Given the description of an element on the screen output the (x, y) to click on. 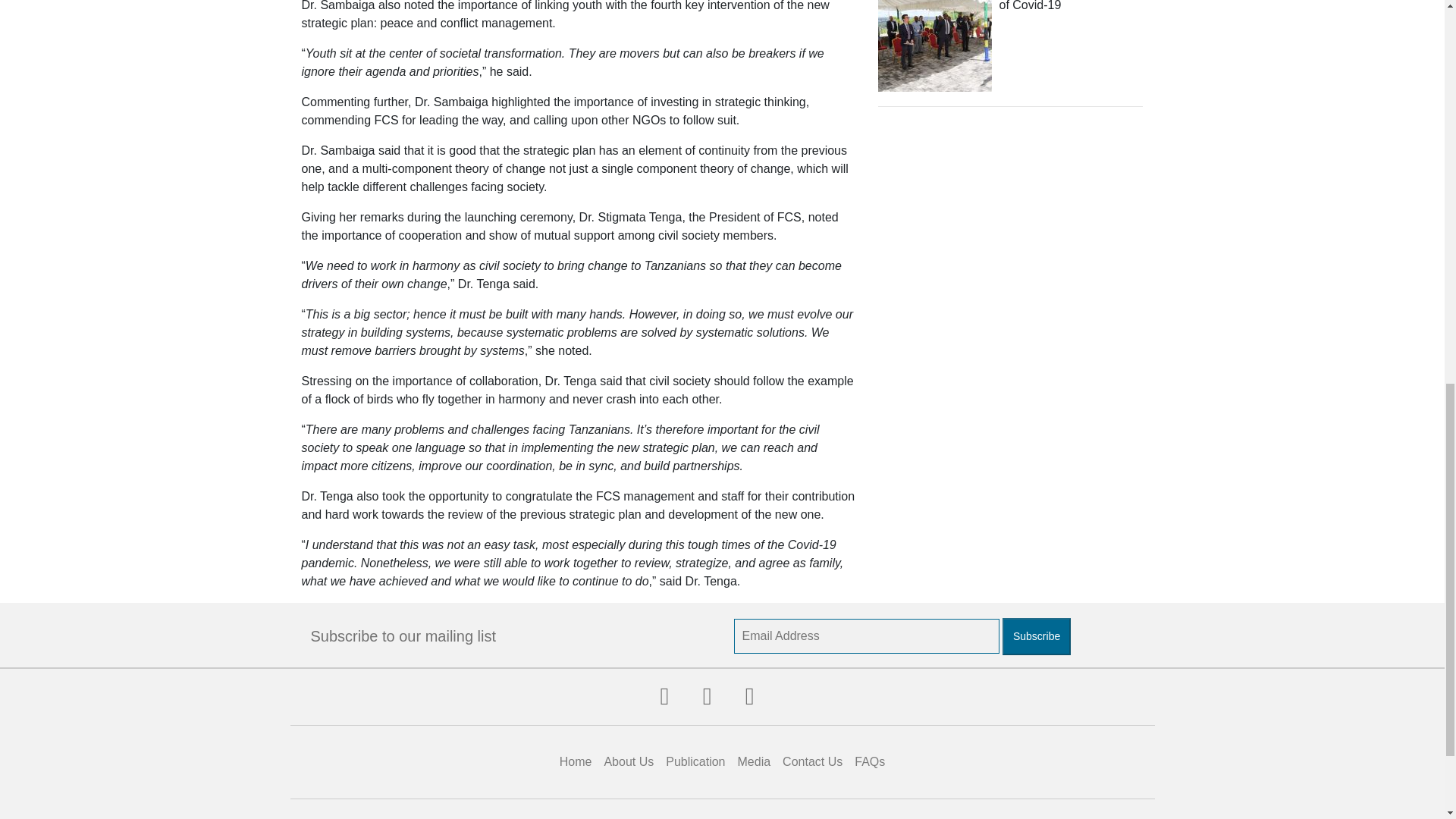
Home (575, 761)
Publication (694, 761)
Home (575, 761)
Subscribe (1036, 636)
About Us (627, 761)
Contact Us (812, 761)
FCS Mitigation strategies of Covid-19 (1066, 5)
Media (754, 761)
FAQs (869, 761)
Subscribe (1036, 636)
